Given the description of an element on the screen output the (x, y) to click on. 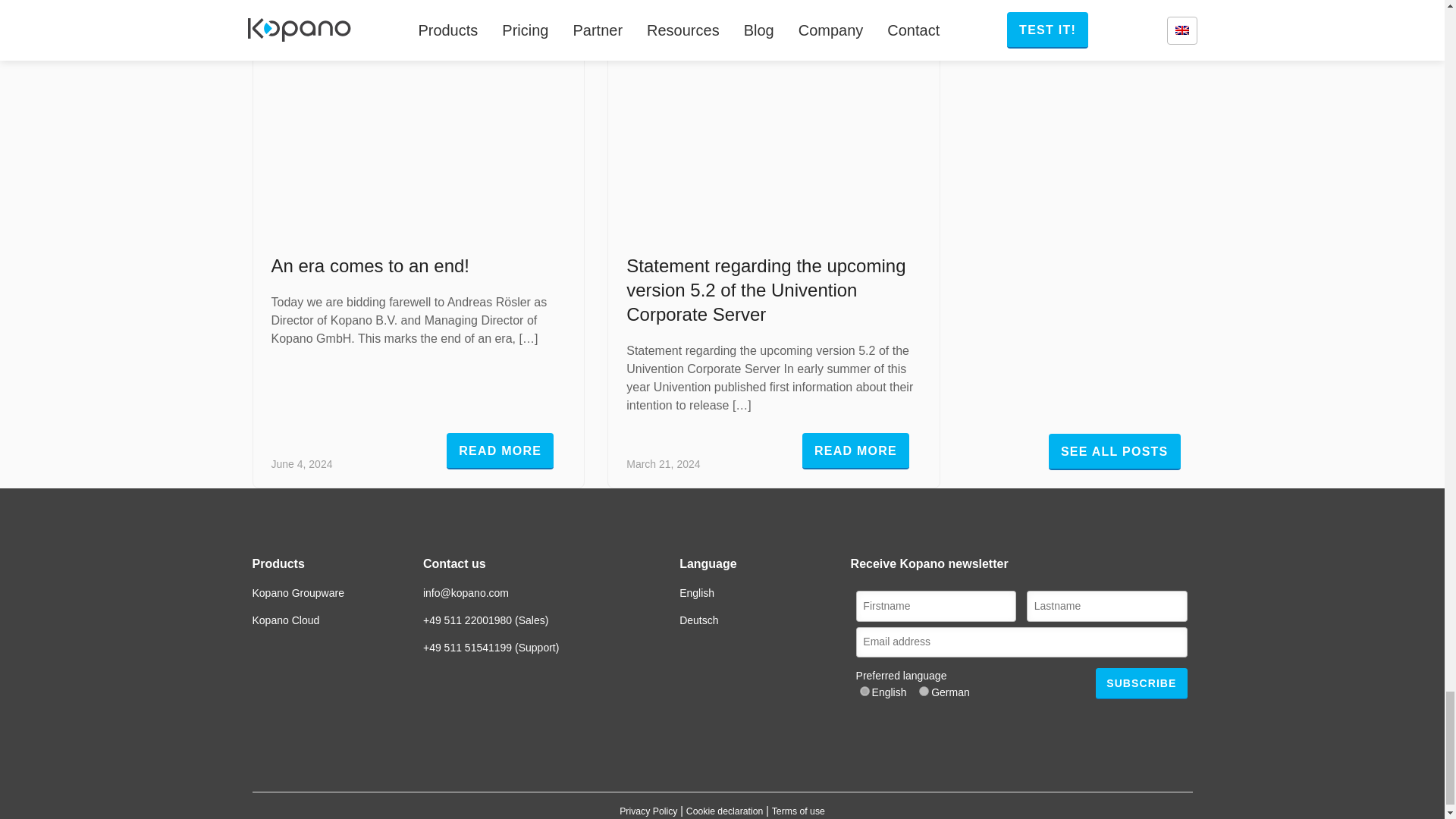
LinkedIn (689, 729)
Twitter (660, 729)
YouTube (717, 729)
Facebook (746, 729)
Subscribe (1141, 683)
32768 (864, 691)
16384 (923, 691)
